Given the description of an element on the screen output the (x, y) to click on. 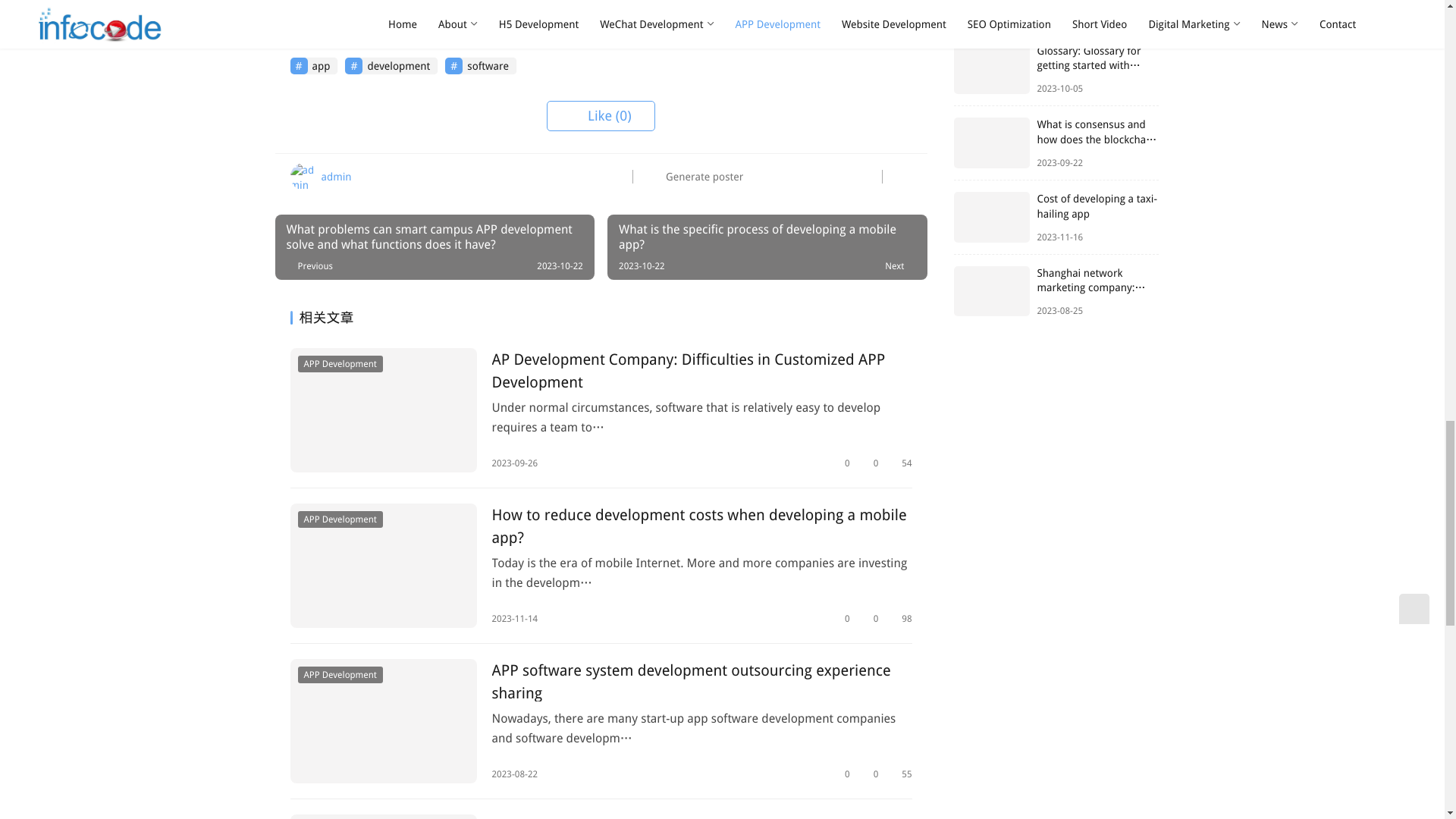
Views (900, 463)
Favorites (841, 618)
software (480, 65)
Likes (870, 618)
Favorites (841, 463)
app (313, 65)
development (391, 65)
Views (900, 618)
What is the specific process of developing a mobile app? (766, 247)
admin (319, 176)
